Given the description of an element on the screen output the (x, y) to click on. 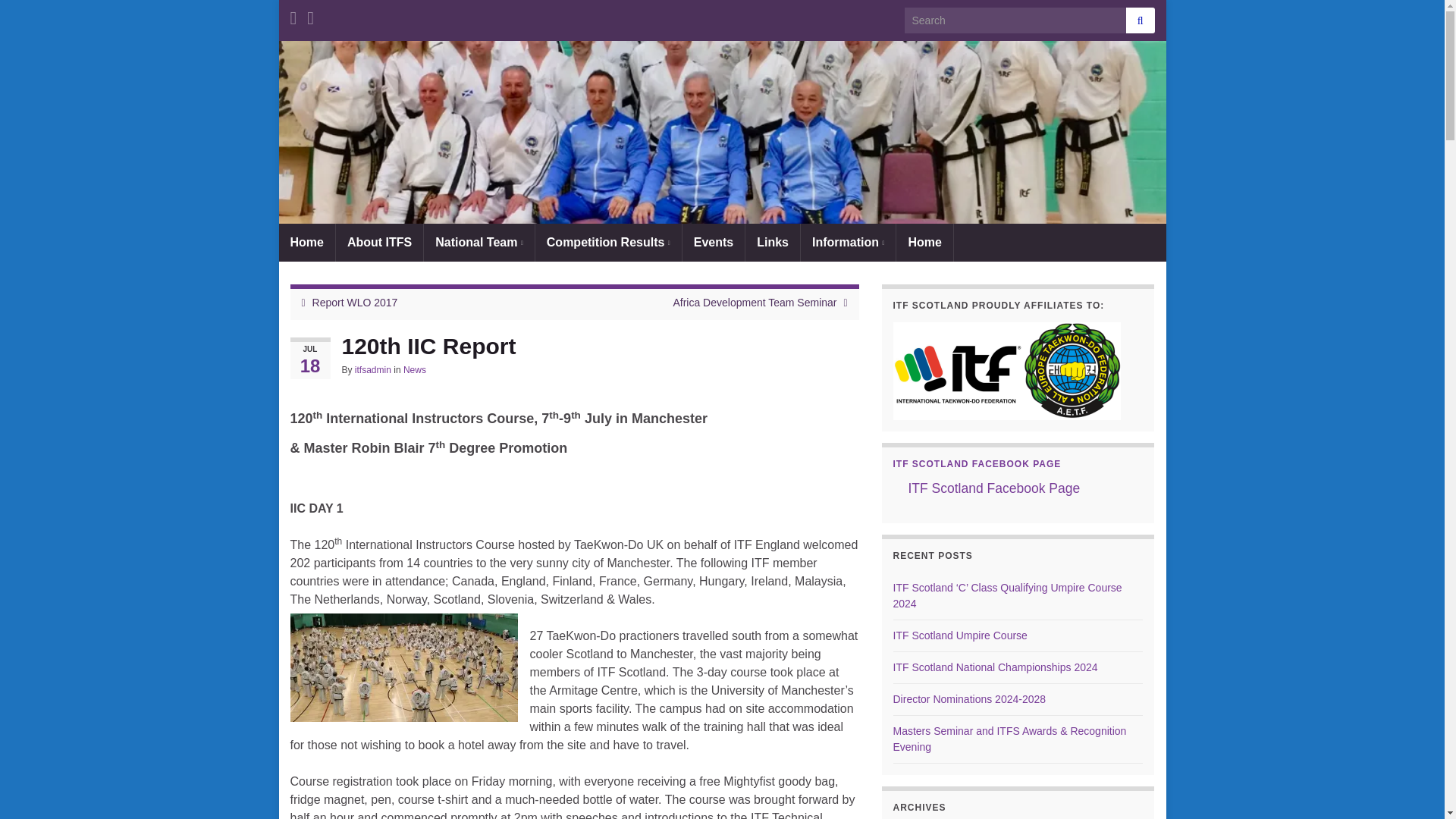
Report WLO 2017 (355, 302)
Home (306, 242)
National Team (478, 242)
Africa Development Team Seminar (753, 302)
itfsadmin (373, 369)
Information (847, 242)
About ITFS (379, 242)
News (414, 369)
Competition Results (608, 242)
Home (924, 242)
Links (772, 242)
Events (713, 242)
